Given the description of an element on the screen output the (x, y) to click on. 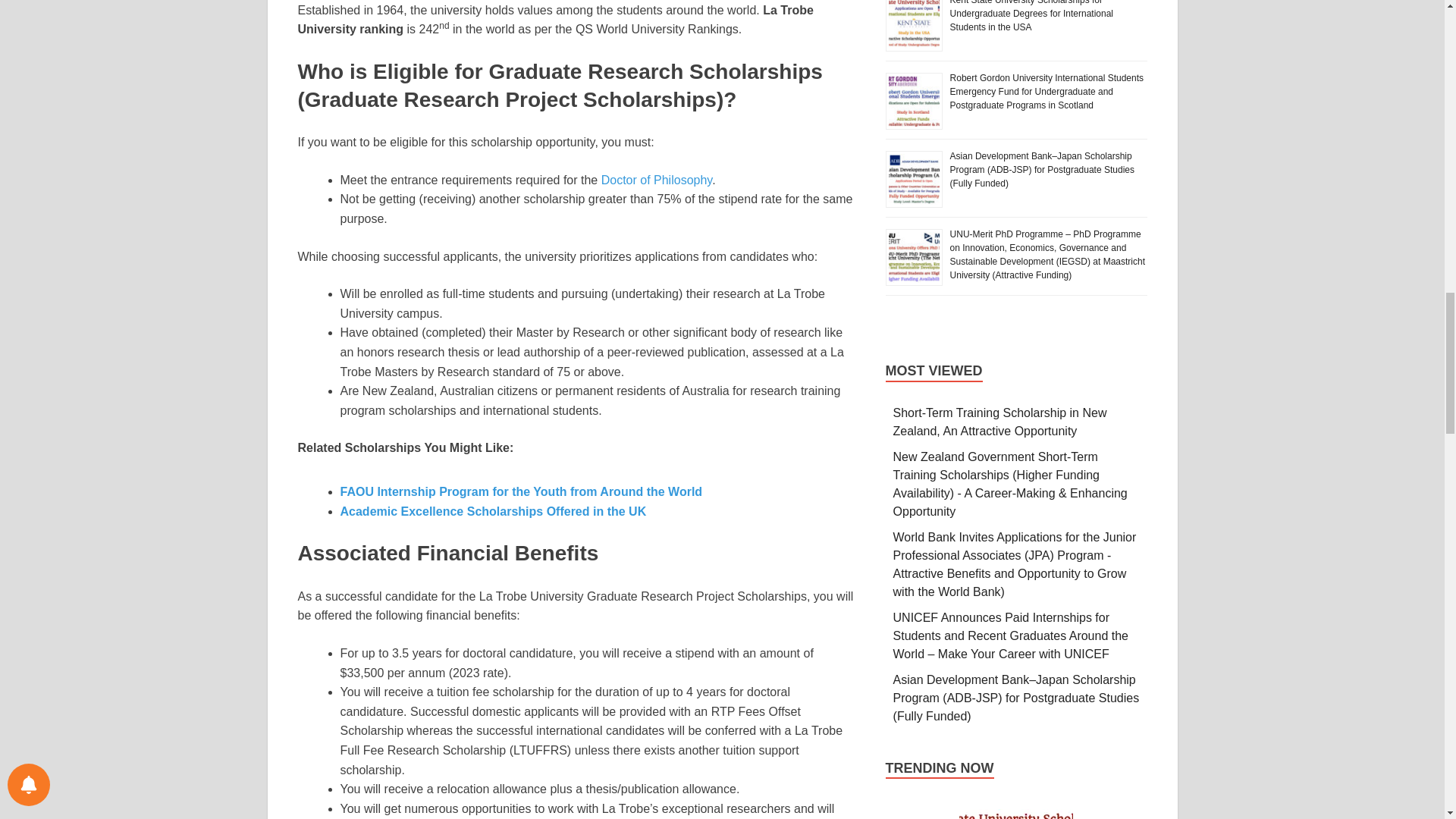
Academic Excellence Scholarships Offered in the UK (492, 511)
FAOU Internship Program for the Youth from Around the World (520, 491)
Doctor of Philosophy (656, 179)
